Given the description of an element on the screen output the (x, y) to click on. 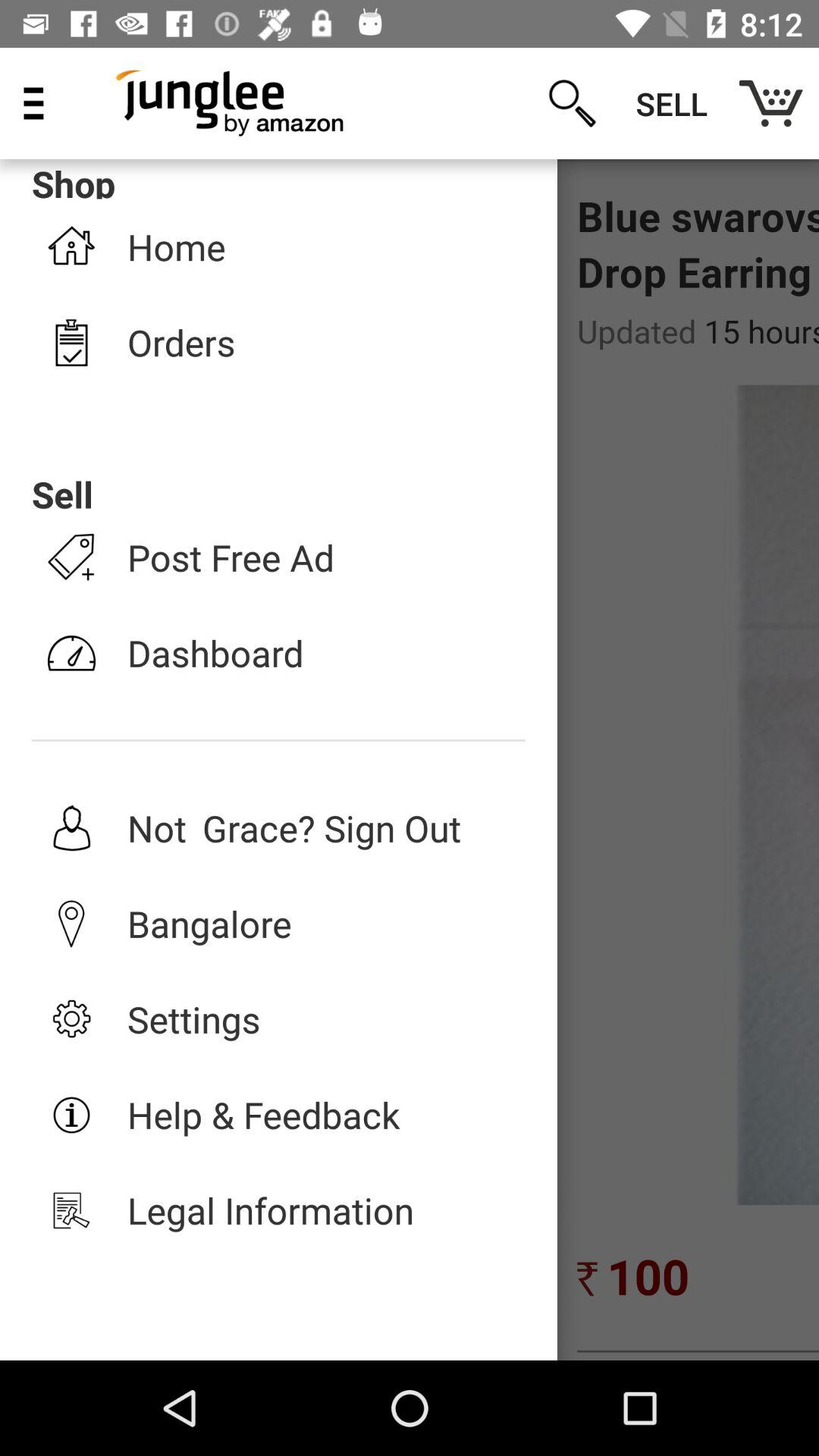
click on the 5th icon (71, 828)
click on the 4th icon (71, 652)
select the logo next to the menu icon (230, 103)
select the 2nd icon from the shop list (71, 342)
